Given the description of an element on the screen output the (x, y) to click on. 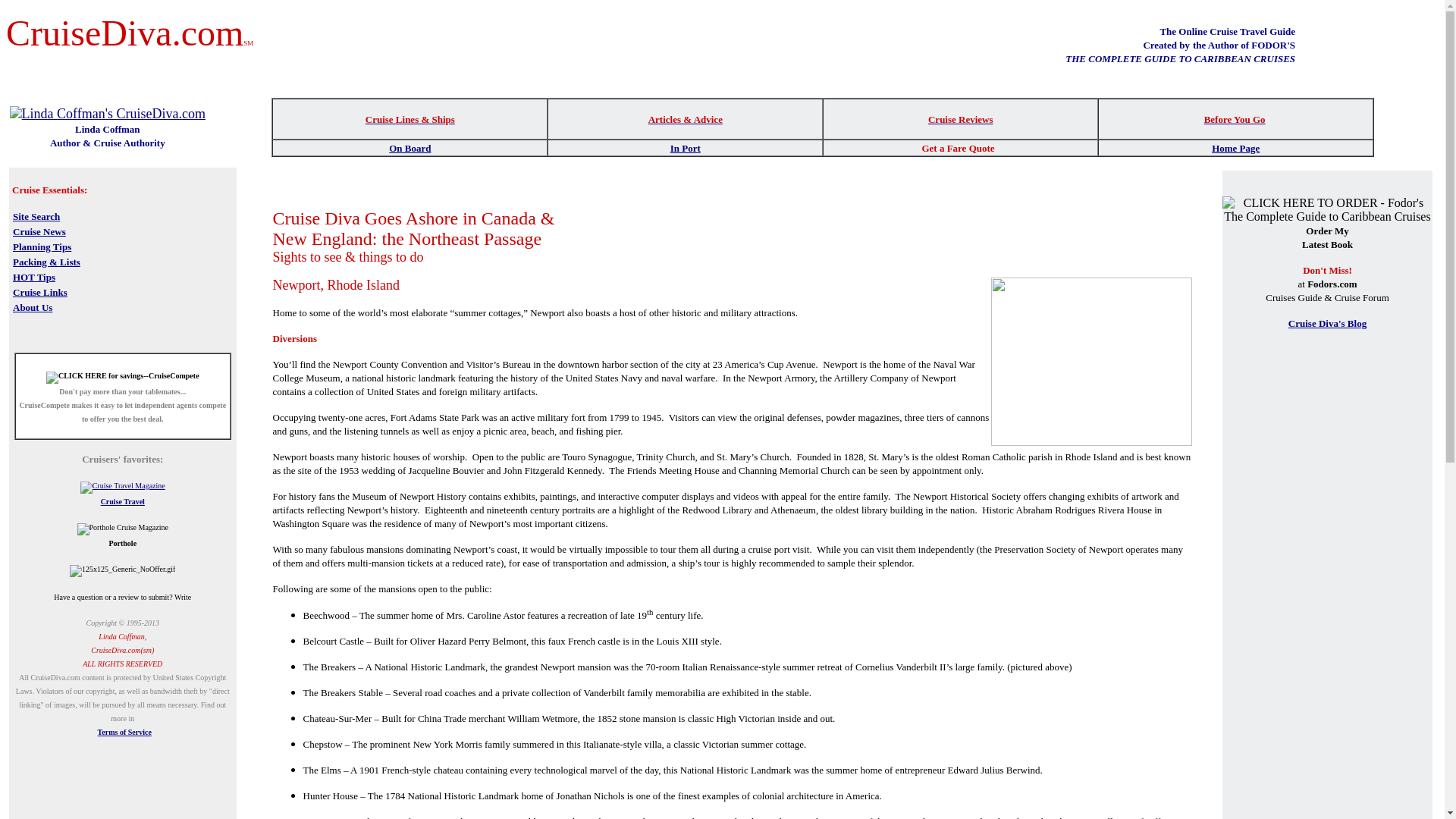
HOT Tips (34, 276)
Cruise Diva's Blog (1327, 323)
Cruise Travel (122, 501)
Before You Go (1234, 118)
In Port (684, 146)
About Us (32, 306)
On Board (409, 146)
Planning Tips (42, 245)
Site Search (36, 215)
Terms of Service (124, 732)
Cruise Reviews (960, 118)
Cruise Links (39, 291)
Cruise News (39, 230)
Home Page (1235, 147)
